Given the description of an element on the screen output the (x, y) to click on. 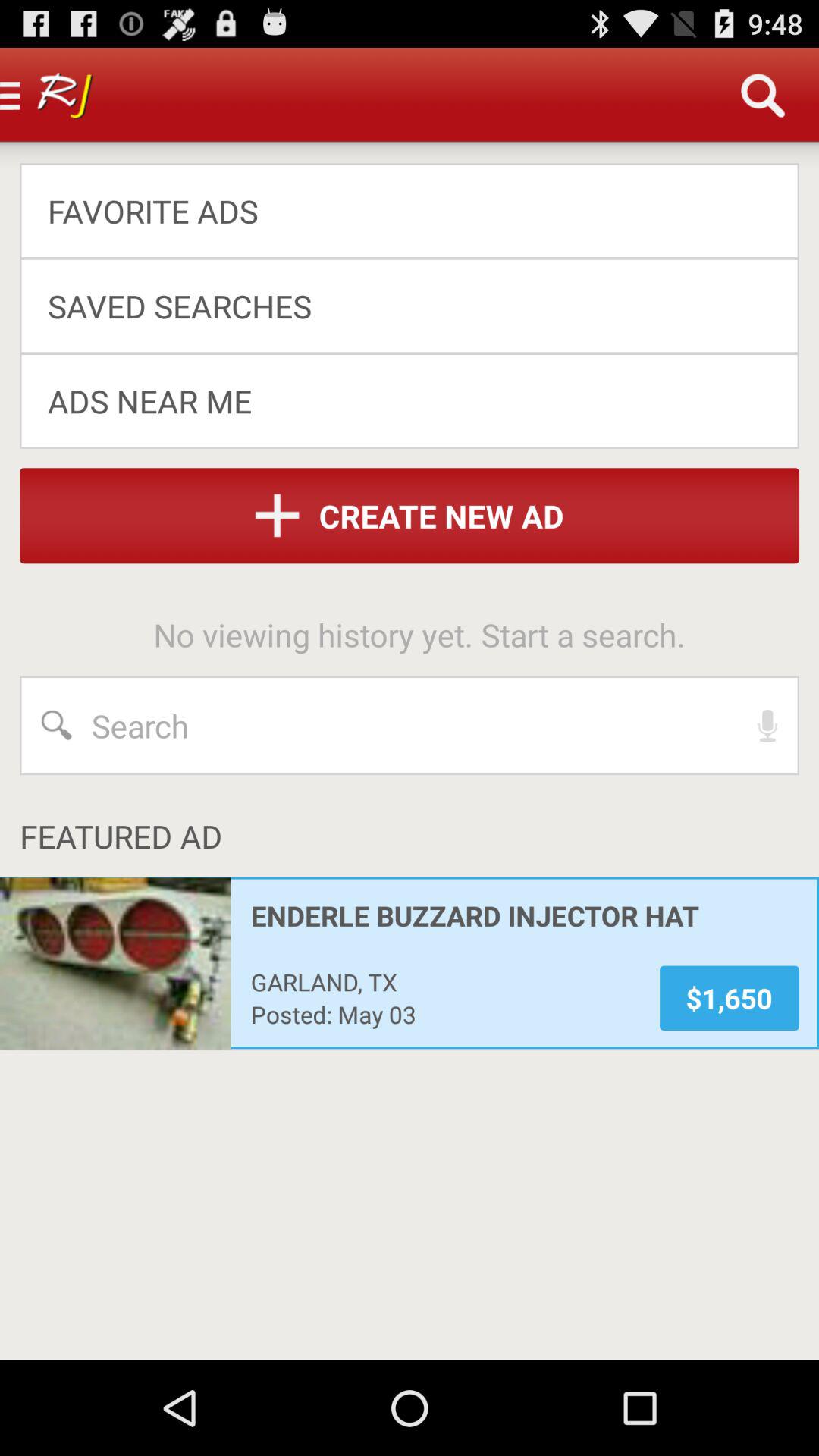
select garland, tx item (444, 981)
